Given the description of an element on the screen output the (x, y) to click on. 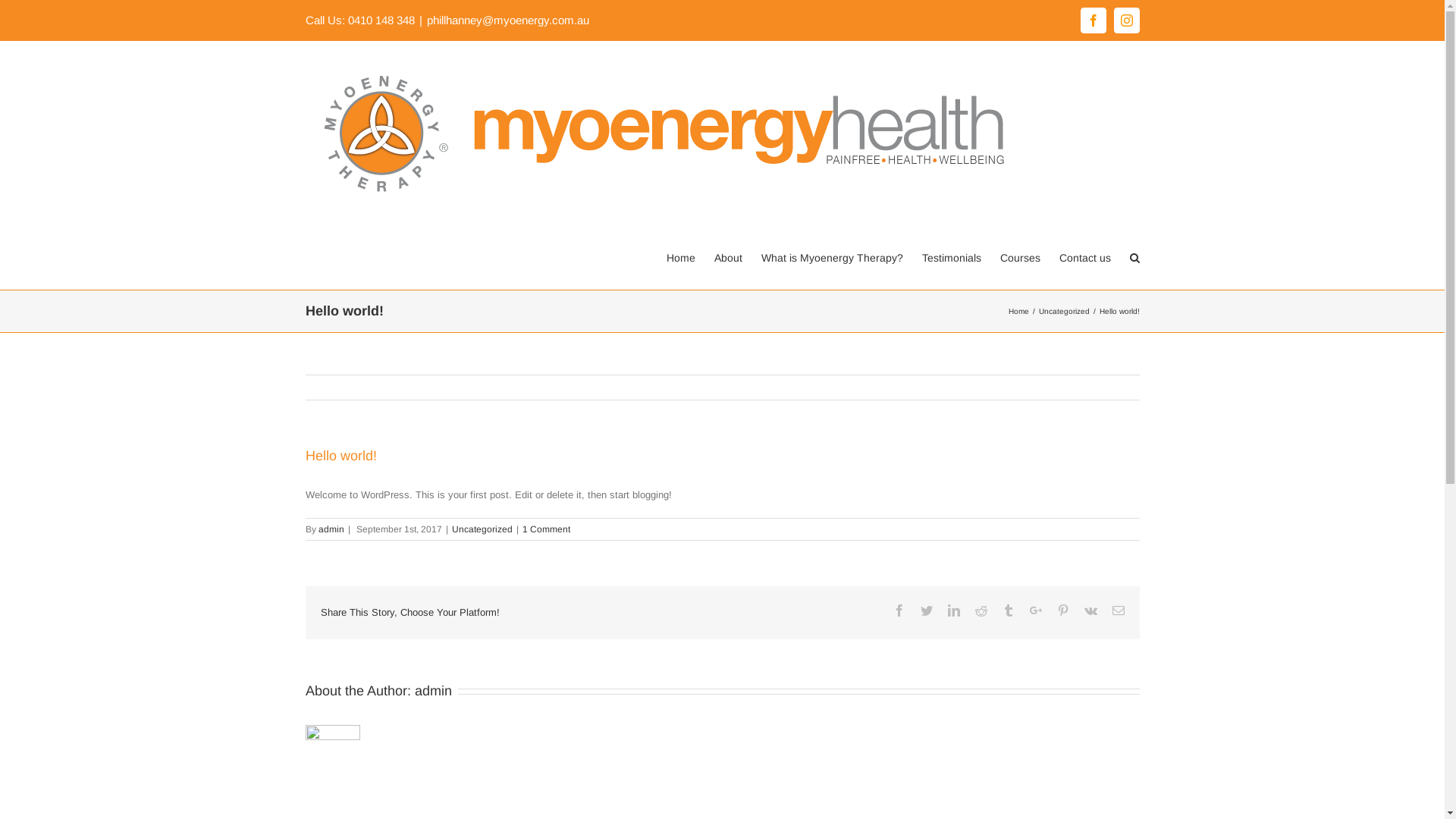
Uncategorized Element type: text (1063, 311)
Reddit Element type: text (981, 610)
Home Element type: text (679, 256)
Google+ Element type: text (1035, 610)
Vk Element type: text (1090, 610)
Courses Element type: text (1019, 256)
phillhanney@myoenergy.com.au Element type: text (507, 19)
Home Element type: text (1018, 311)
Tumblr Element type: text (1008, 610)
Linkedin Element type: text (953, 610)
admin Element type: text (331, 528)
About Element type: text (728, 256)
Email Element type: text (1117, 610)
Twitter Element type: text (926, 610)
Contact us Element type: text (1084, 256)
Facebook Element type: text (1092, 20)
Instagram Element type: text (1126, 20)
Uncategorized Element type: text (481, 528)
Testimonials Element type: text (951, 256)
What is Myoenergy Therapy? Element type: text (832, 256)
1 Comment Element type: text (545, 528)
Pinterest Element type: text (1063, 610)
Facebook Element type: text (899, 610)
admin Element type: text (432, 689)
